Given the description of an element on the screen output the (x, y) to click on. 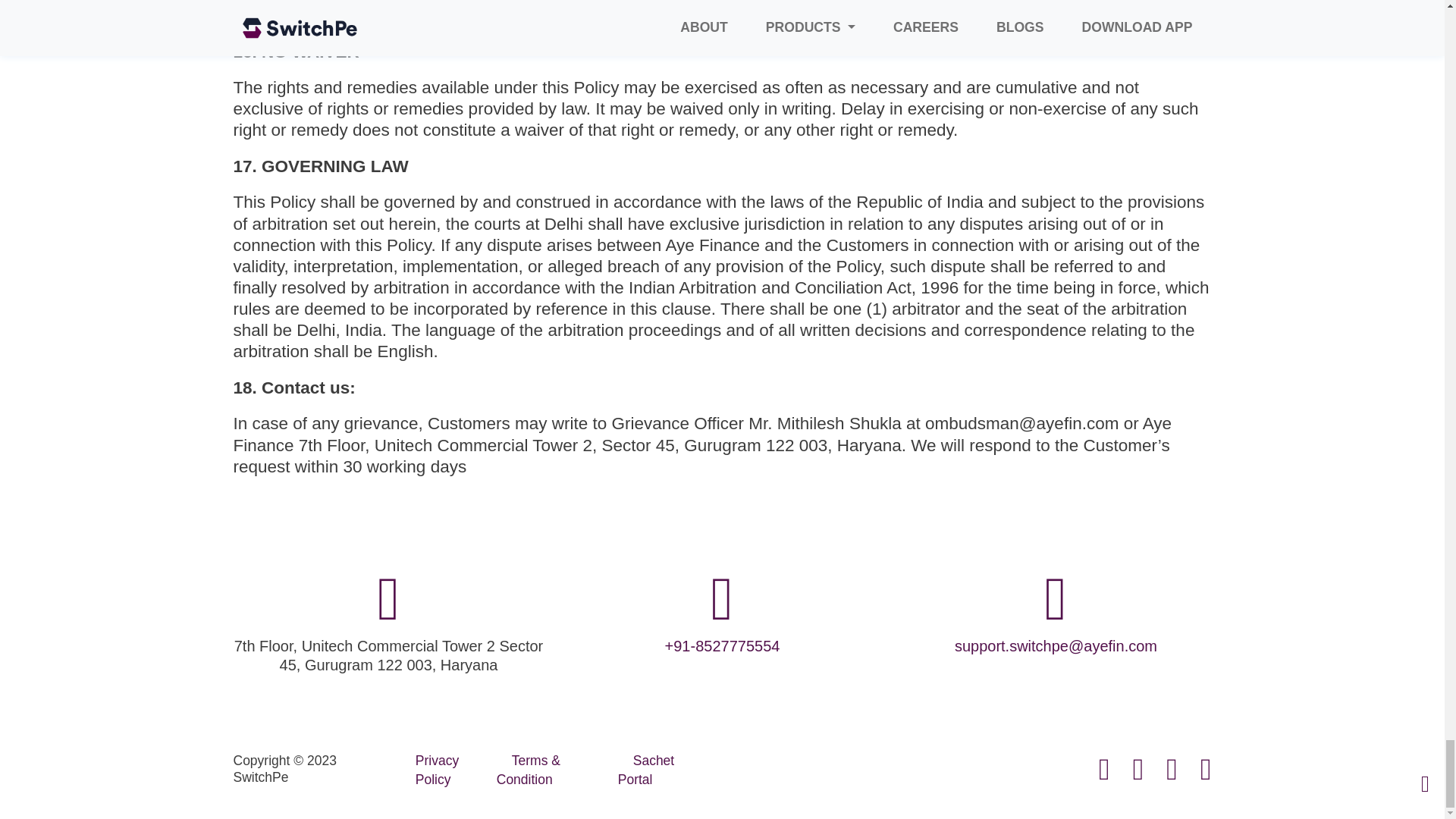
Privacy Policy (436, 769)
Sachet Portal (645, 769)
